Given the description of an element on the screen output the (x, y) to click on. 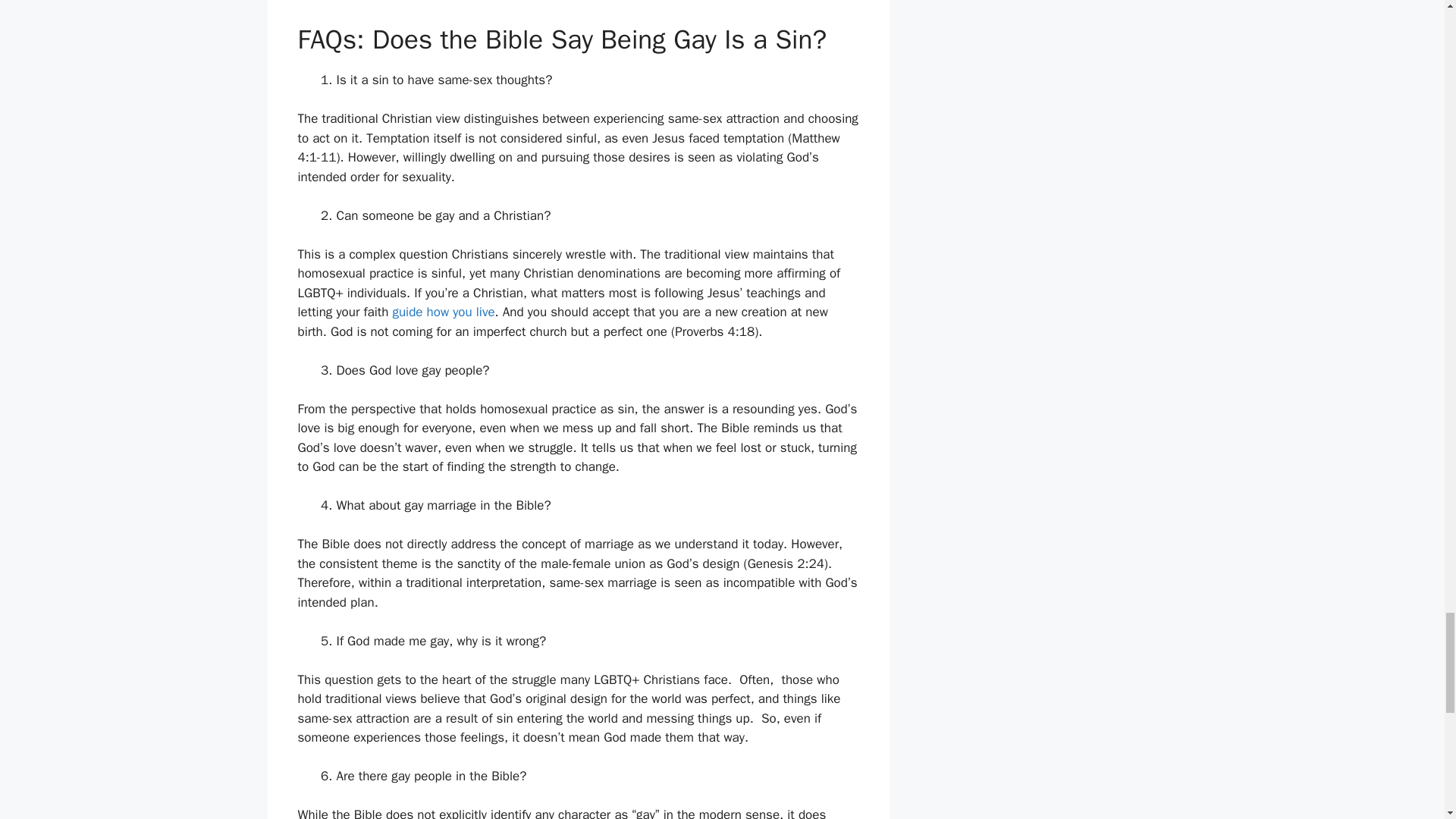
guide how you live (443, 311)
